Given the description of an element on the screen output the (x, y) to click on. 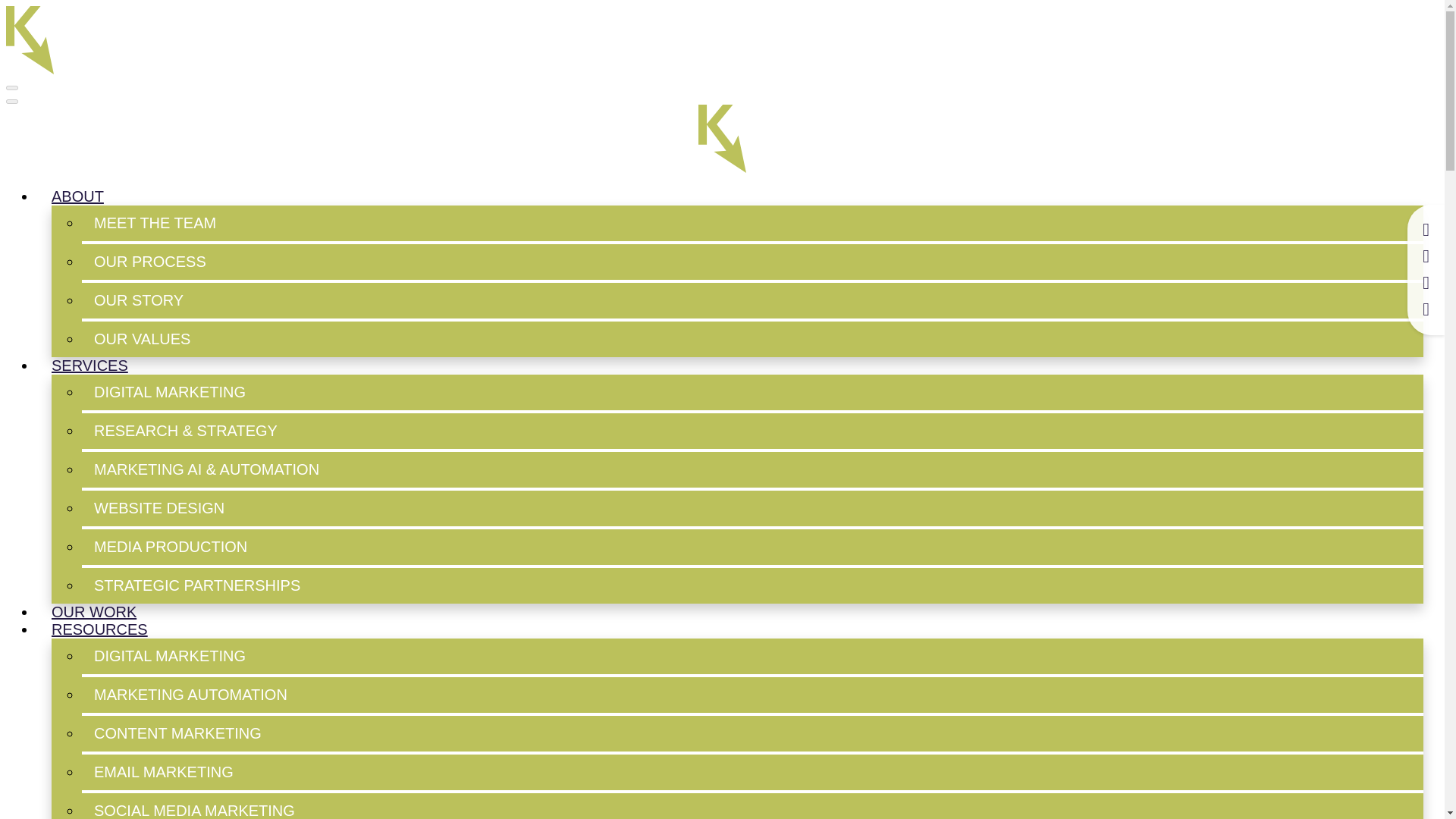
DIGITAL MARKETING (752, 656)
OUR VALUES (752, 339)
MARKETING AUTOMATION (752, 694)
OUR STORY (752, 300)
SERVICES (89, 365)
MEDIA PRODUCTION (752, 547)
WEBSITE DESIGN (752, 508)
OUR WORK (93, 611)
MEET THE TEAM (752, 222)
RESOURCES (99, 629)
EMAIL MARKETING (752, 772)
OUR PROCESS (752, 262)
CONTENT MARKETING (752, 733)
STRATEGIC PARTNERSHIPS (752, 585)
